Given the description of an element on the screen output the (x, y) to click on. 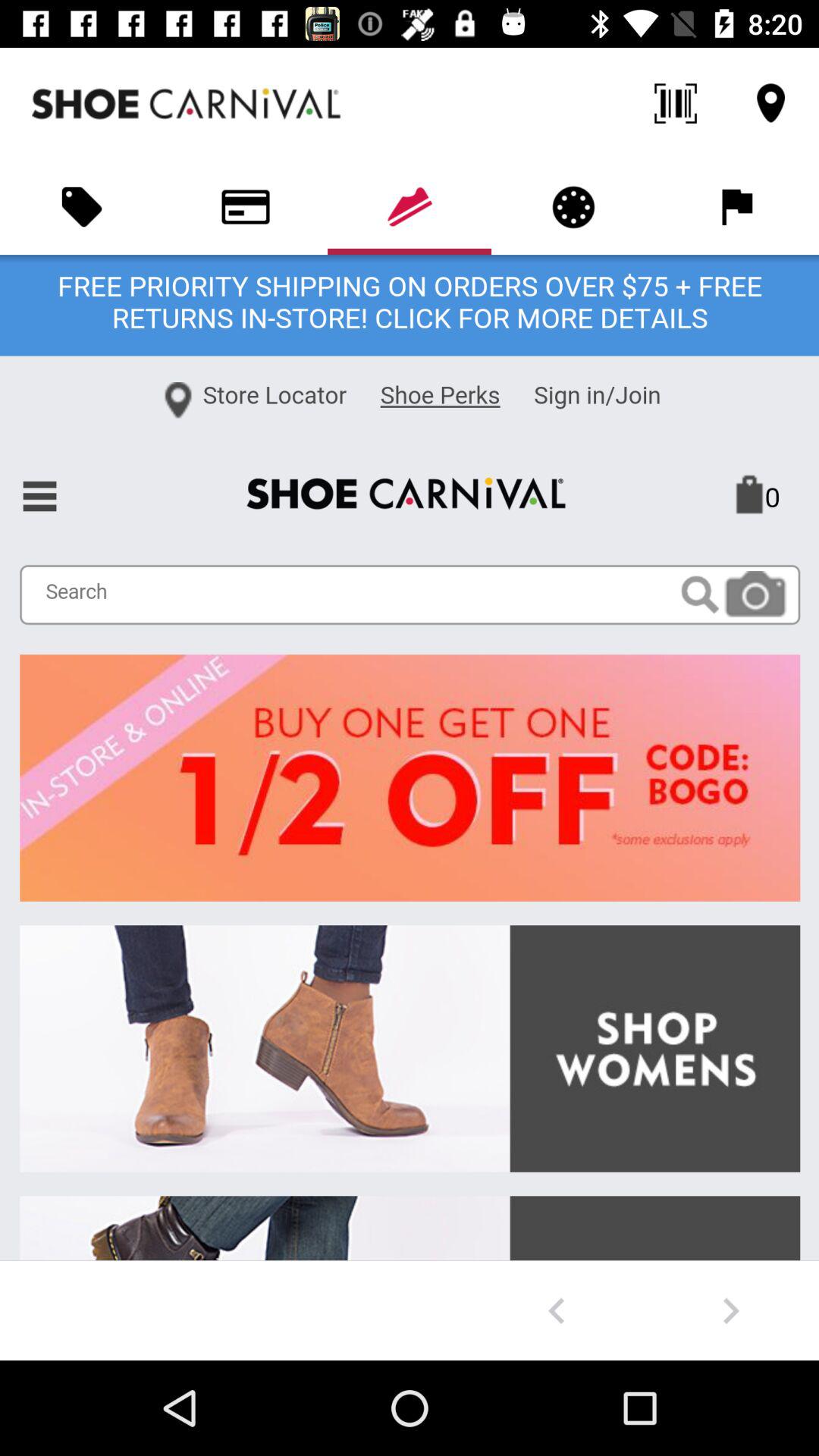
go back (555, 1310)
